Given the description of an element on the screen output the (x, y) to click on. 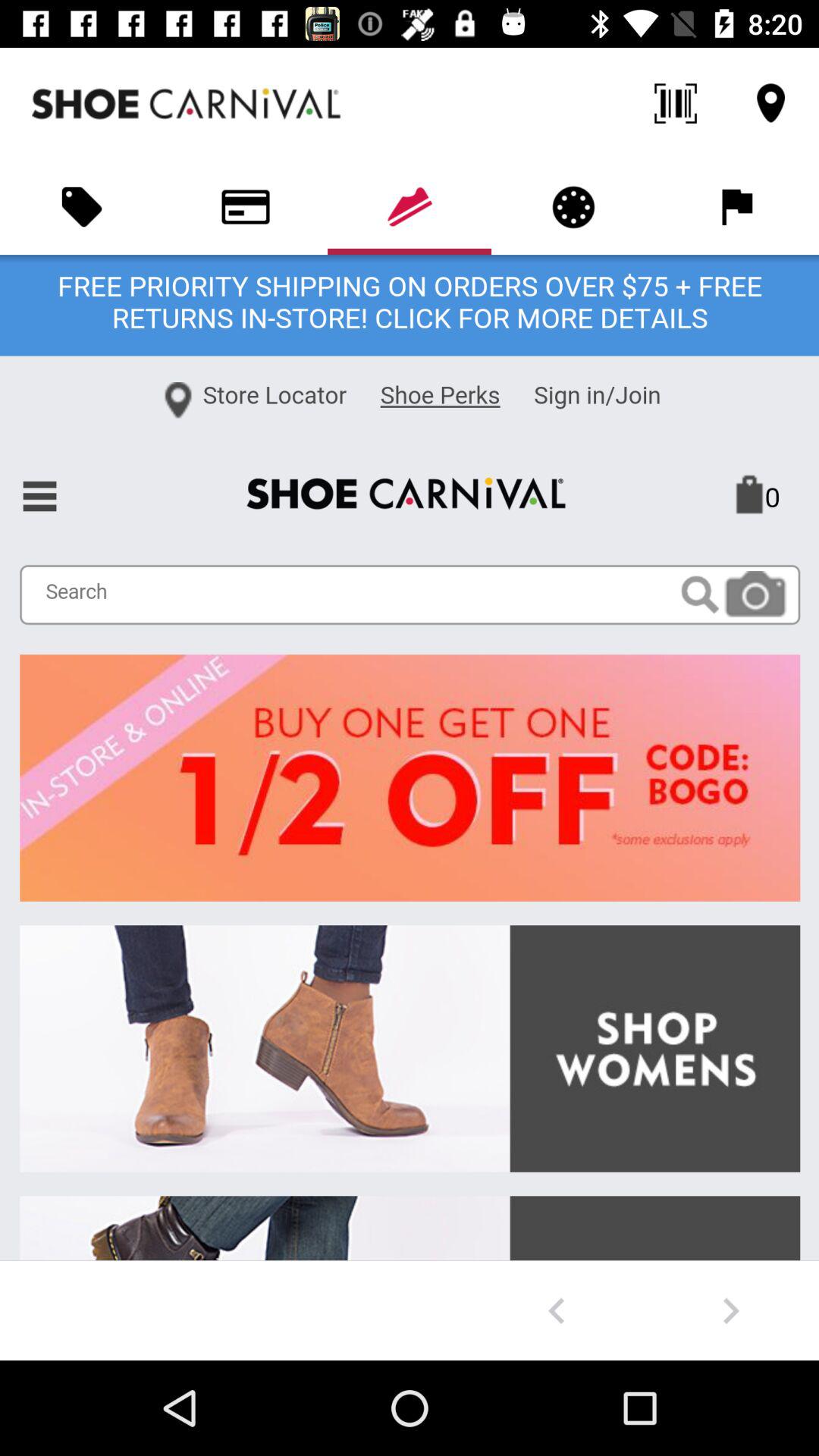
go back (555, 1310)
